Given the description of an element on the screen output the (x, y) to click on. 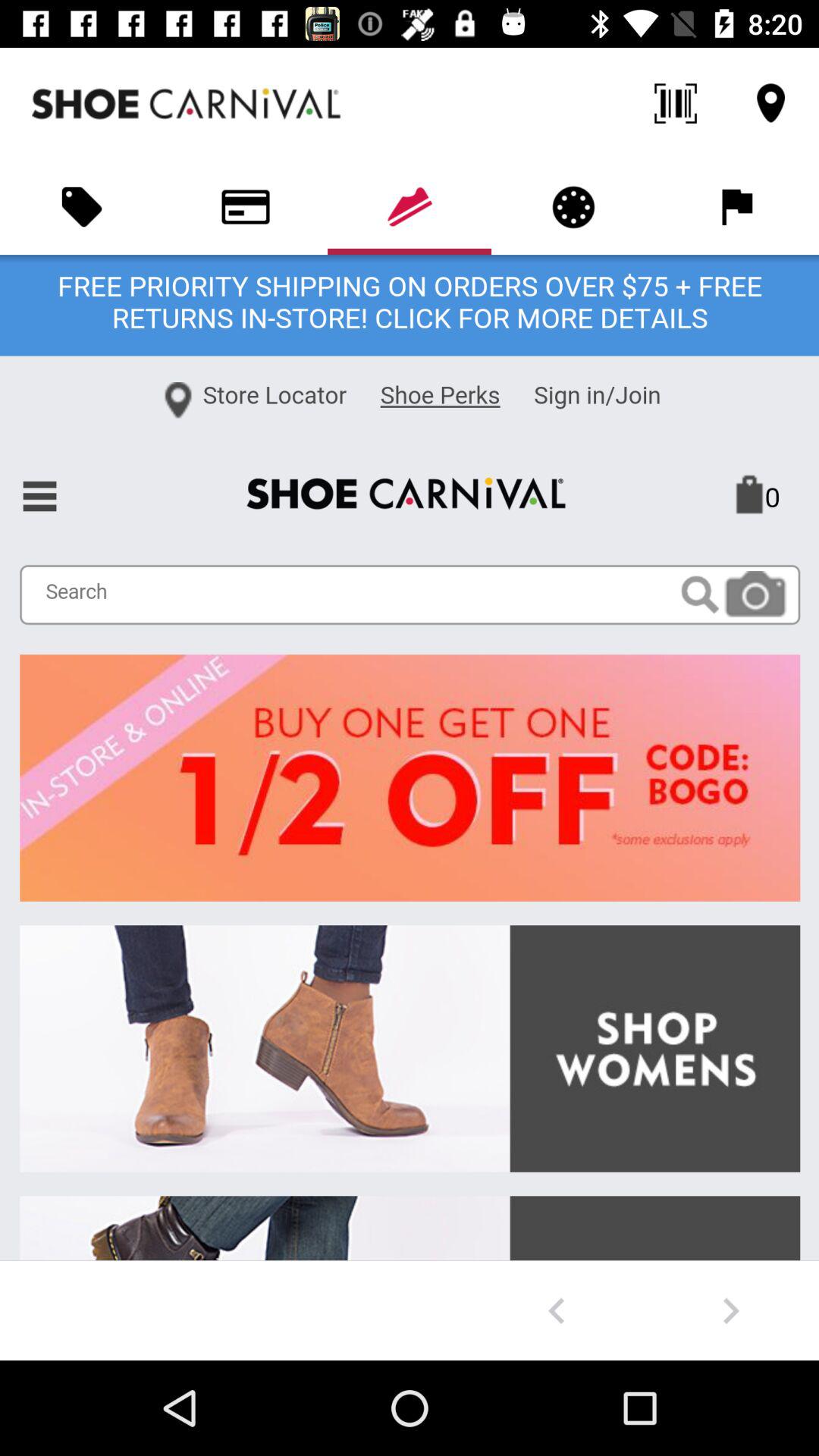
go back (555, 1310)
